Given the description of an element on the screen output the (x, y) to click on. 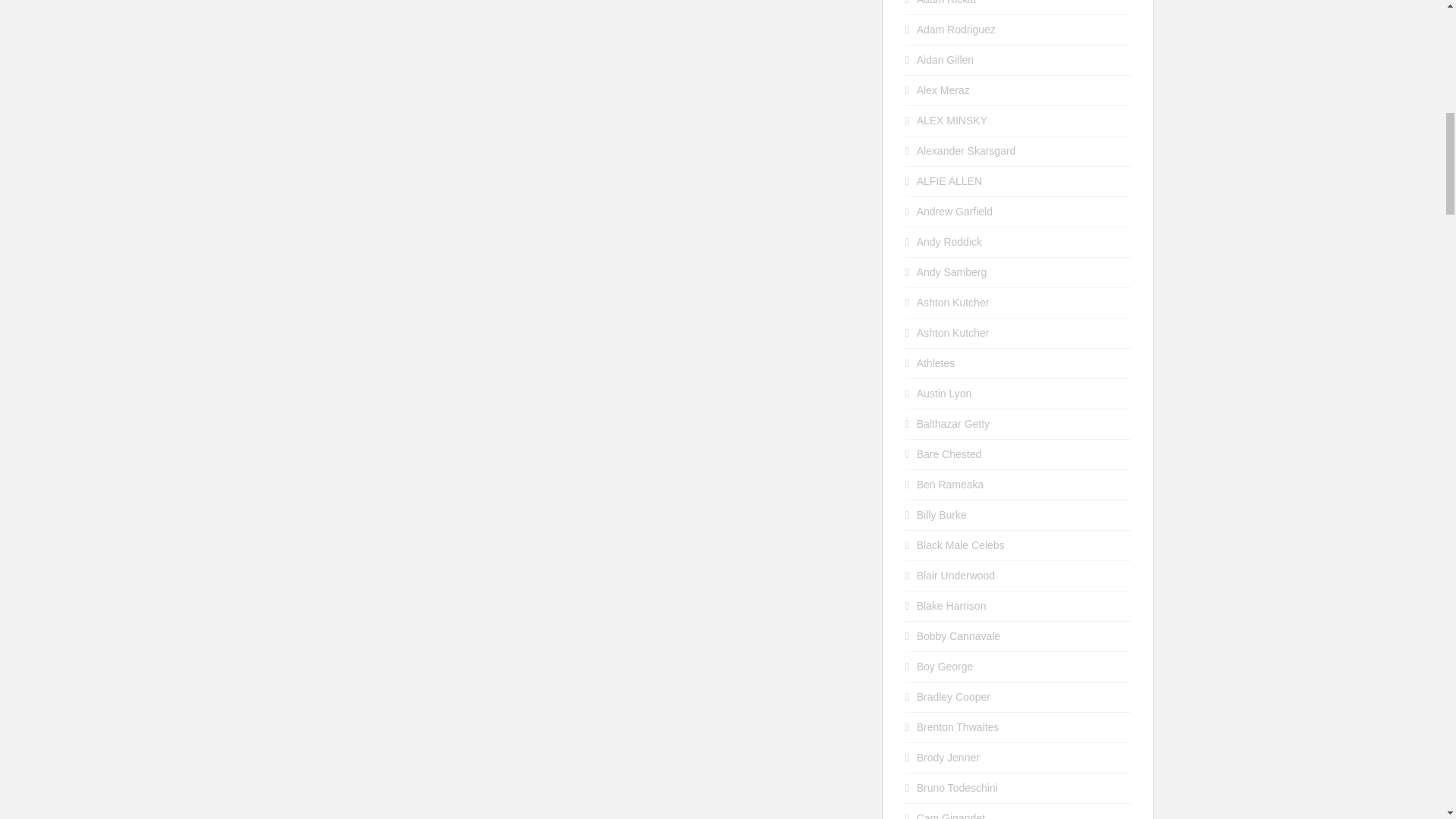
Austin Lyon (944, 393)
Andrew Garfield (954, 211)
Black Male Celebs (960, 544)
Alexander Skarsgard (966, 150)
ALFIE ALLEN (949, 181)
Andy Samberg (952, 272)
Ashton Kutcher (953, 332)
Blair Underwood (956, 575)
Andy Roddick (949, 241)
Balthazar Getty (953, 423)
